Given the description of an element on the screen output the (x, y) to click on. 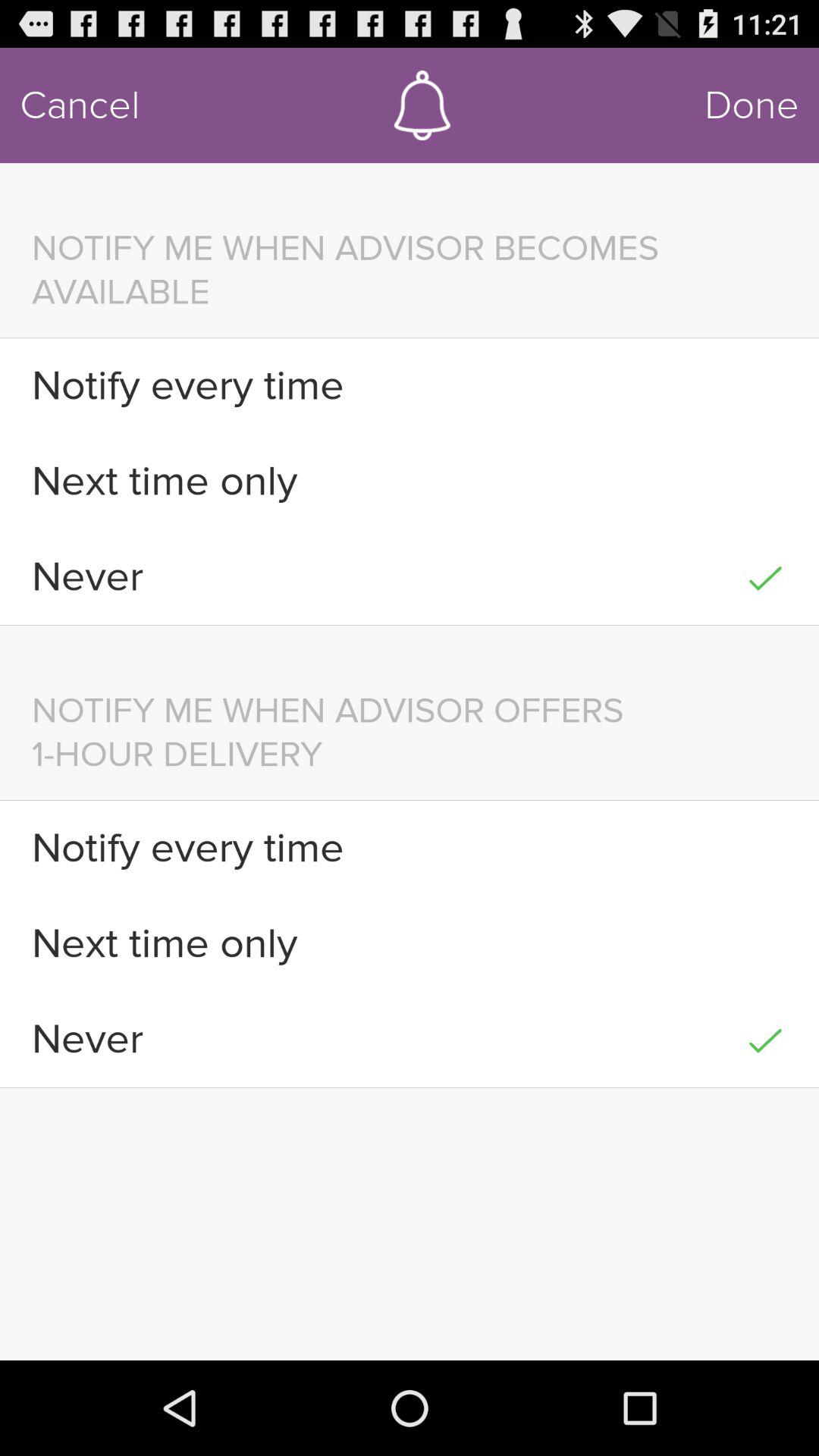
tap the icon next to notify every time item (765, 385)
